Given the description of an element on the screen output the (x, y) to click on. 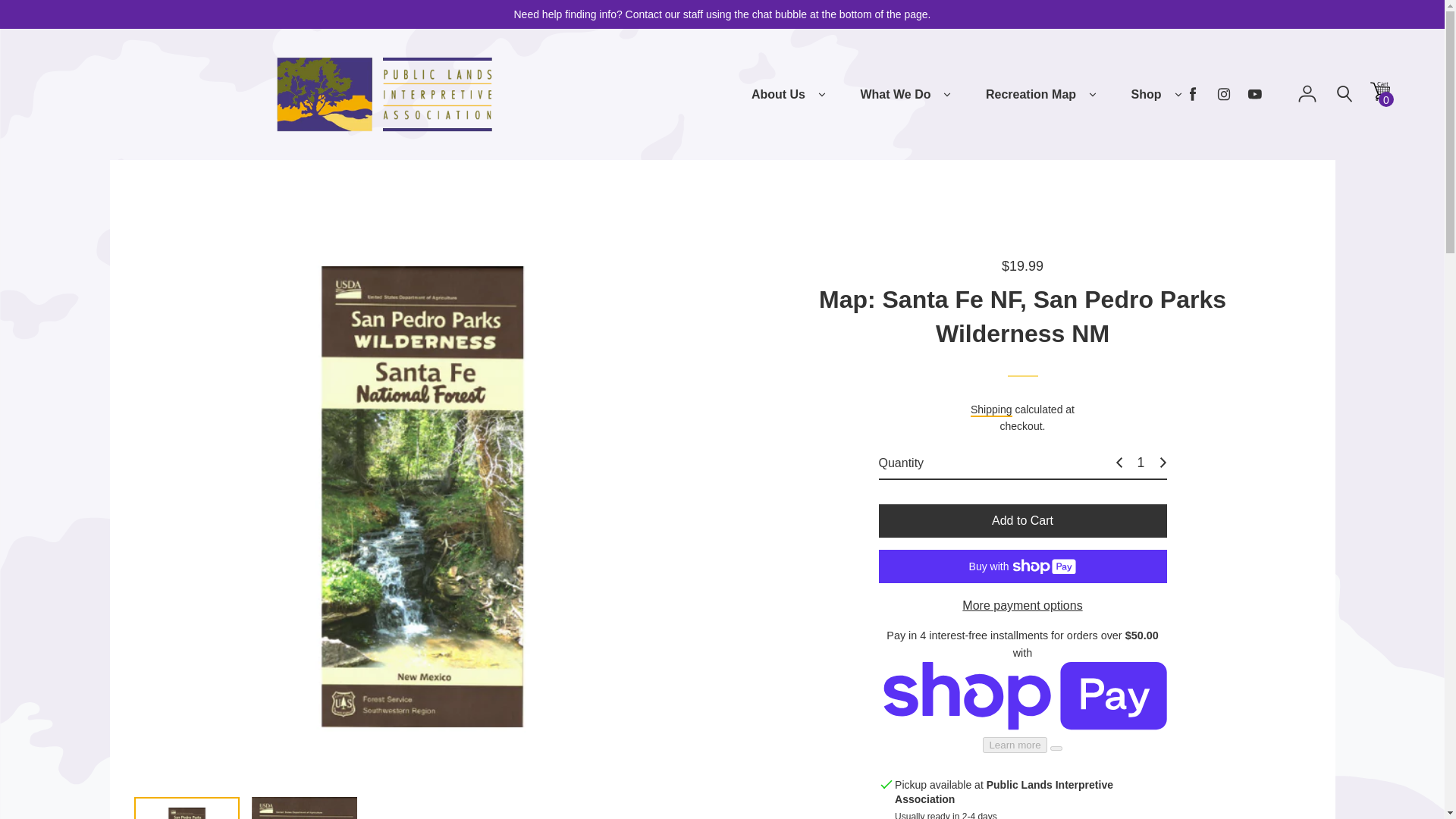
Public Lands Interpretive Association on Instagram (1223, 94)
About Us (778, 94)
Public Lands Interpretive Association on YouTube (1254, 94)
Recreation Map (1030, 94)
What We Do (895, 94)
Public Lands Interpretive Association on Facebook (1193, 94)
1 (1140, 462)
Shop (1146, 94)
